Given the description of an element on the screen output the (x, y) to click on. 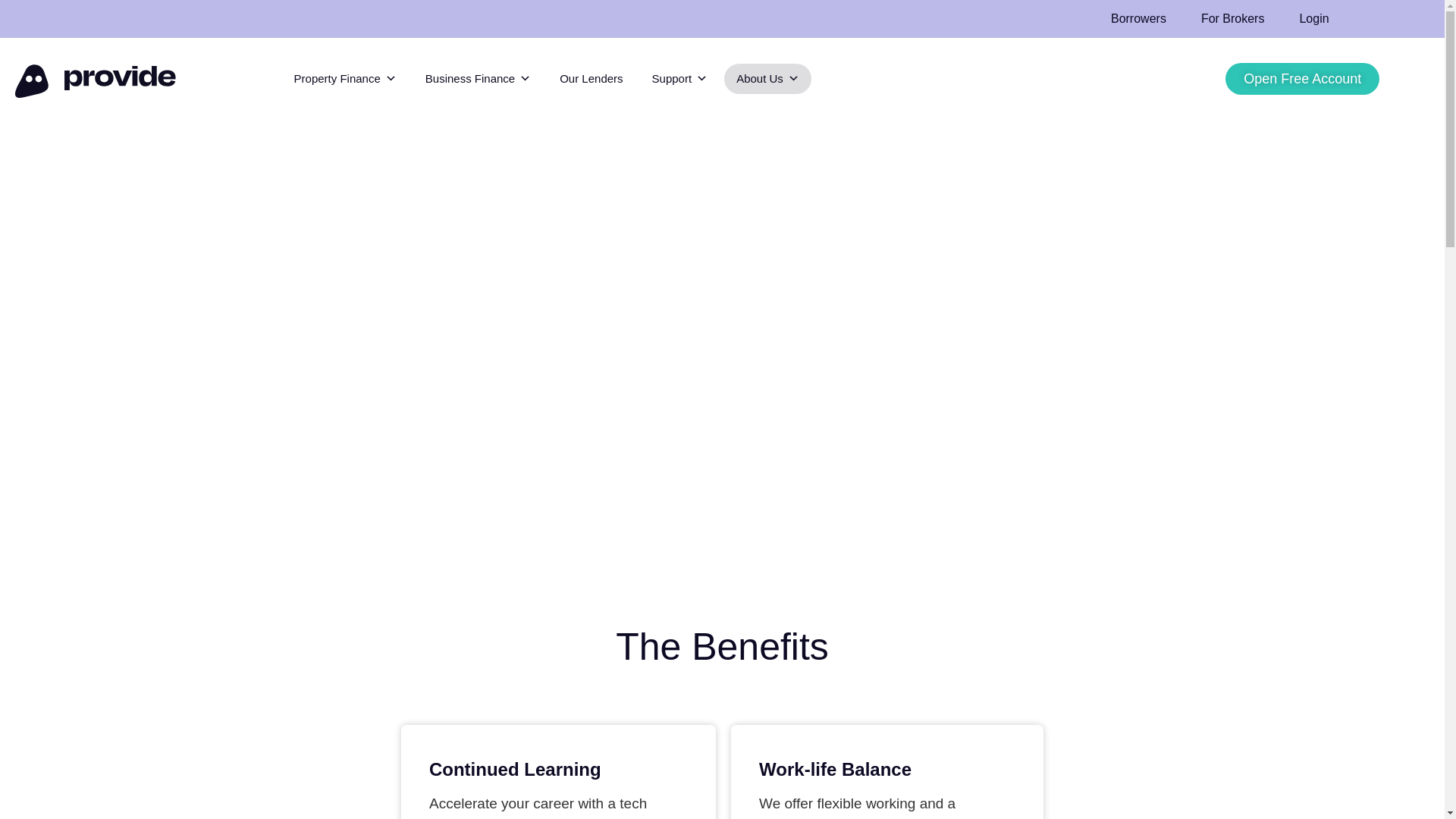
Business Finance (478, 78)
Property Finance (345, 78)
Open Free Account (1301, 79)
Support (680, 78)
Borrowers (1138, 18)
About Us (766, 78)
Our Lenders (590, 78)
For Brokers (1233, 18)
